Given the description of an element on the screen output the (x, y) to click on. 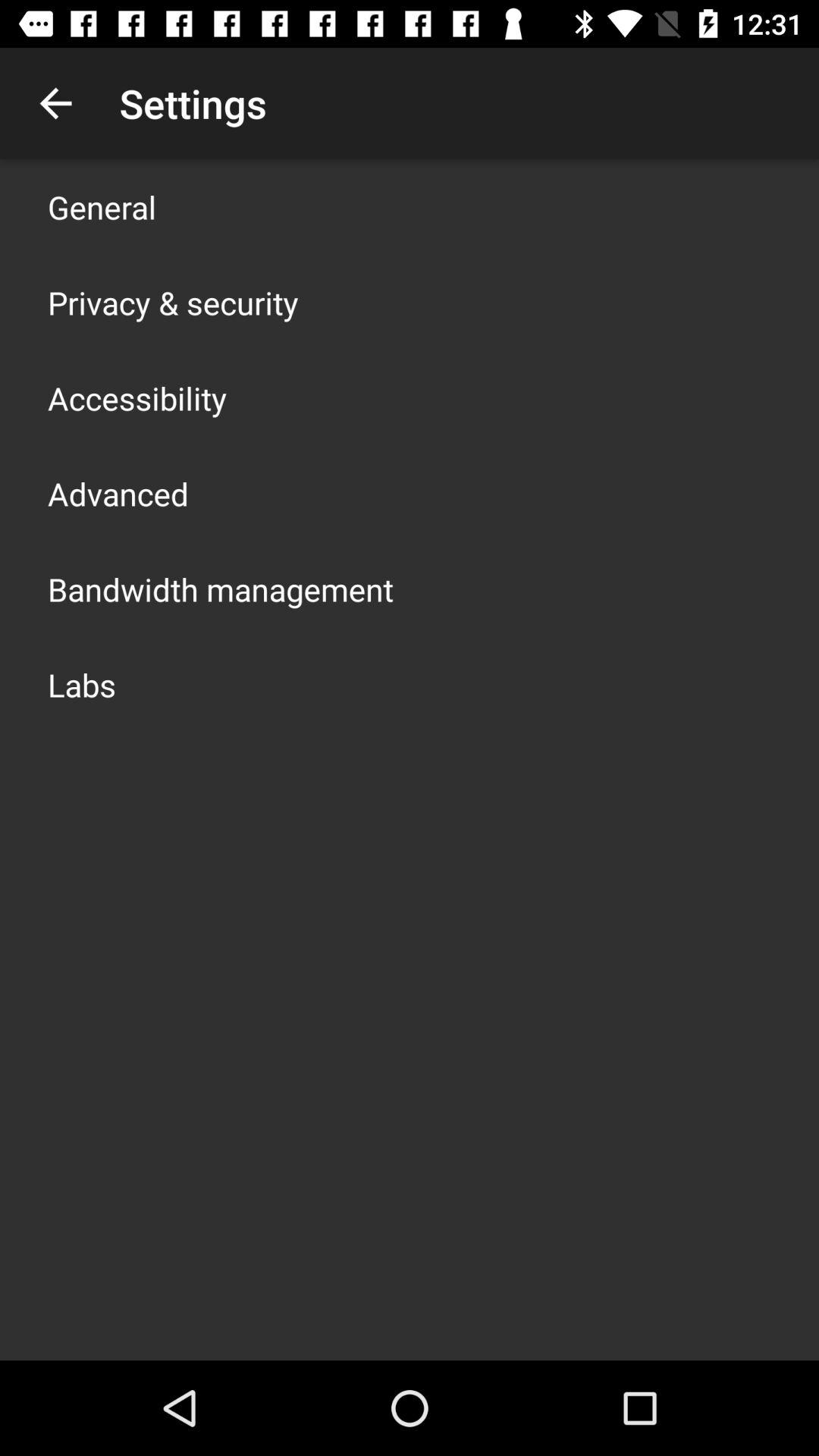
click the app above advanced app (136, 397)
